Given the description of an element on the screen output the (x, y) to click on. 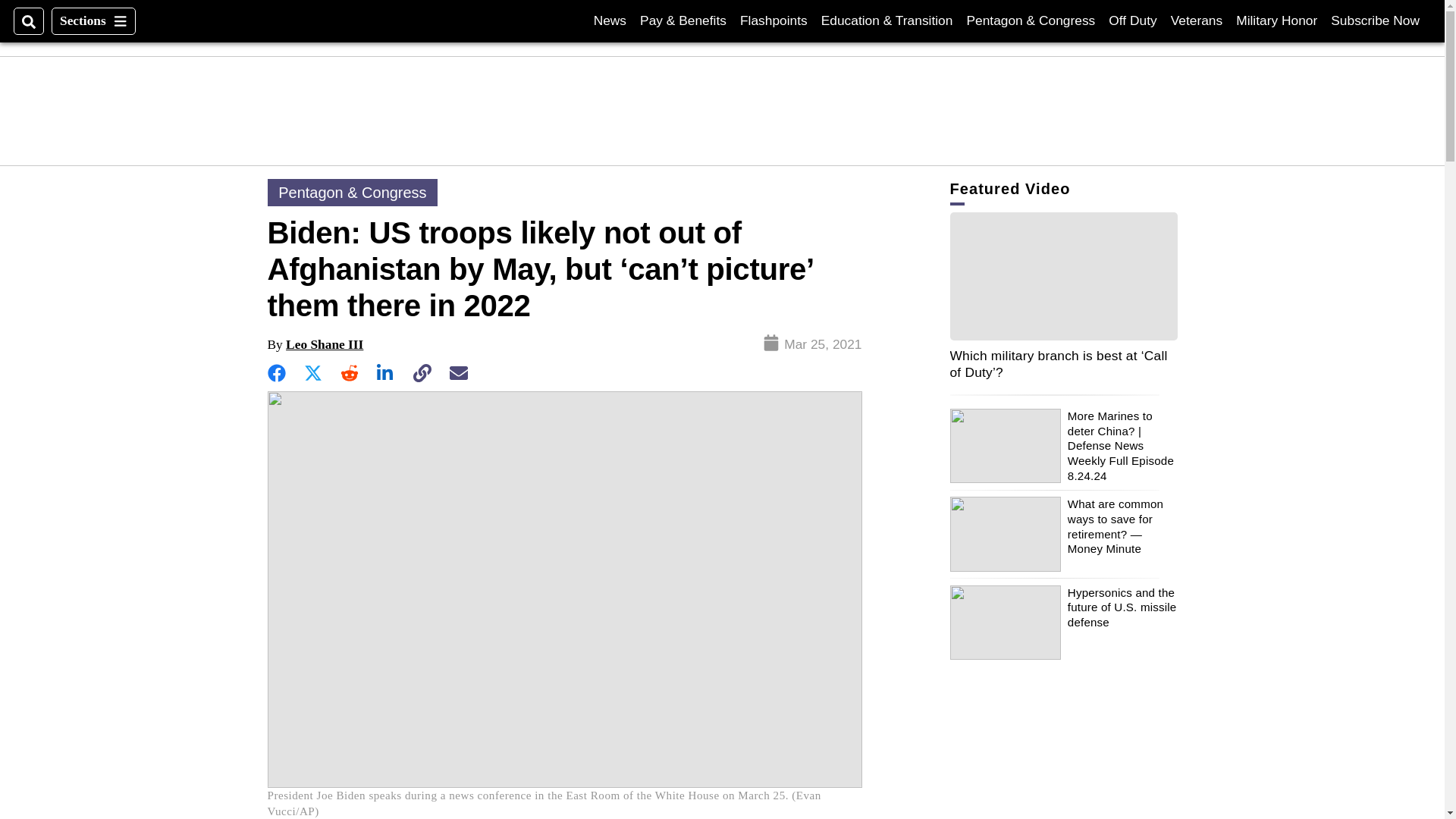
Off Duty (1132, 20)
Veterans (1196, 20)
Military Honor (1276, 20)
News (1374, 20)
Sections (610, 20)
Flashpoints (92, 21)
